Given the description of an element on the screen output the (x, y) to click on. 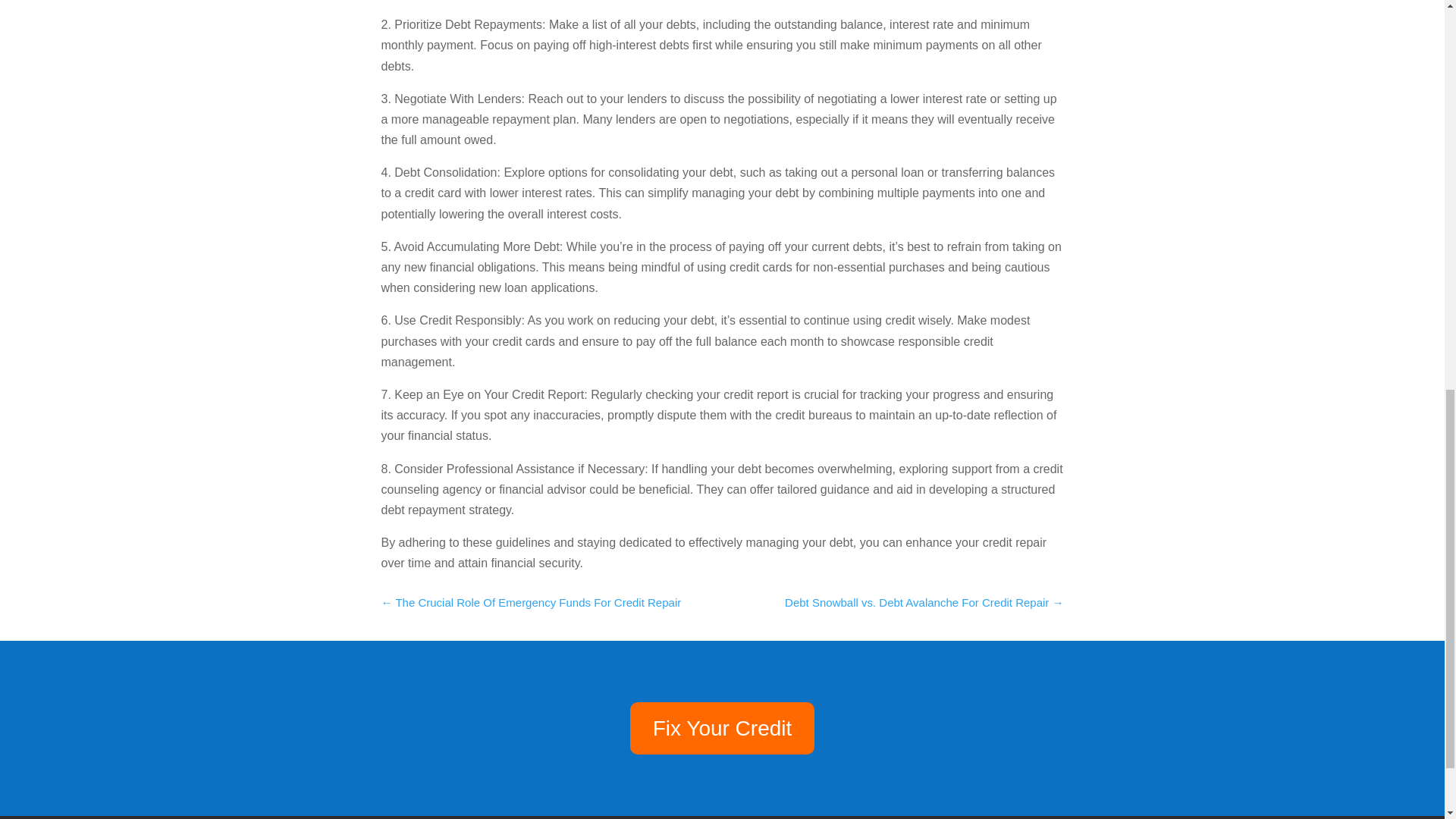
Fix Your Credit (722, 727)
